Given the description of an element on the screen output the (x, y) to click on. 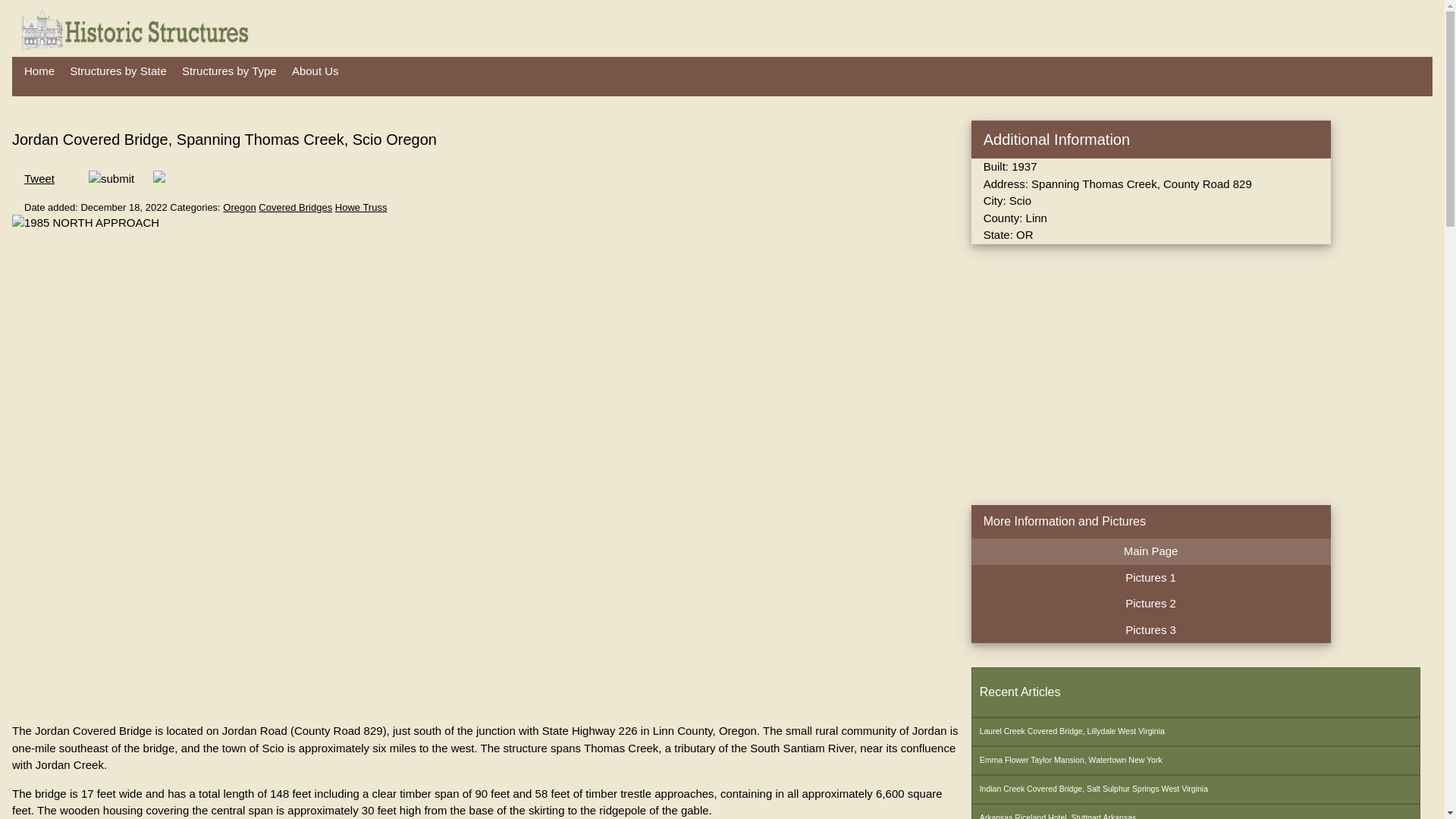
Emma Flower Taylor Mansion, Watertown New York (1196, 760)
Structures by State (118, 70)
Home (39, 71)
Arkansas Riceland Hotel, Stuttgart Arkansas (1196, 811)
Laurel Creek Covered Bridge, Lillydale West Virginia (1196, 731)
